Given the description of an element on the screen output the (x, y) to click on. 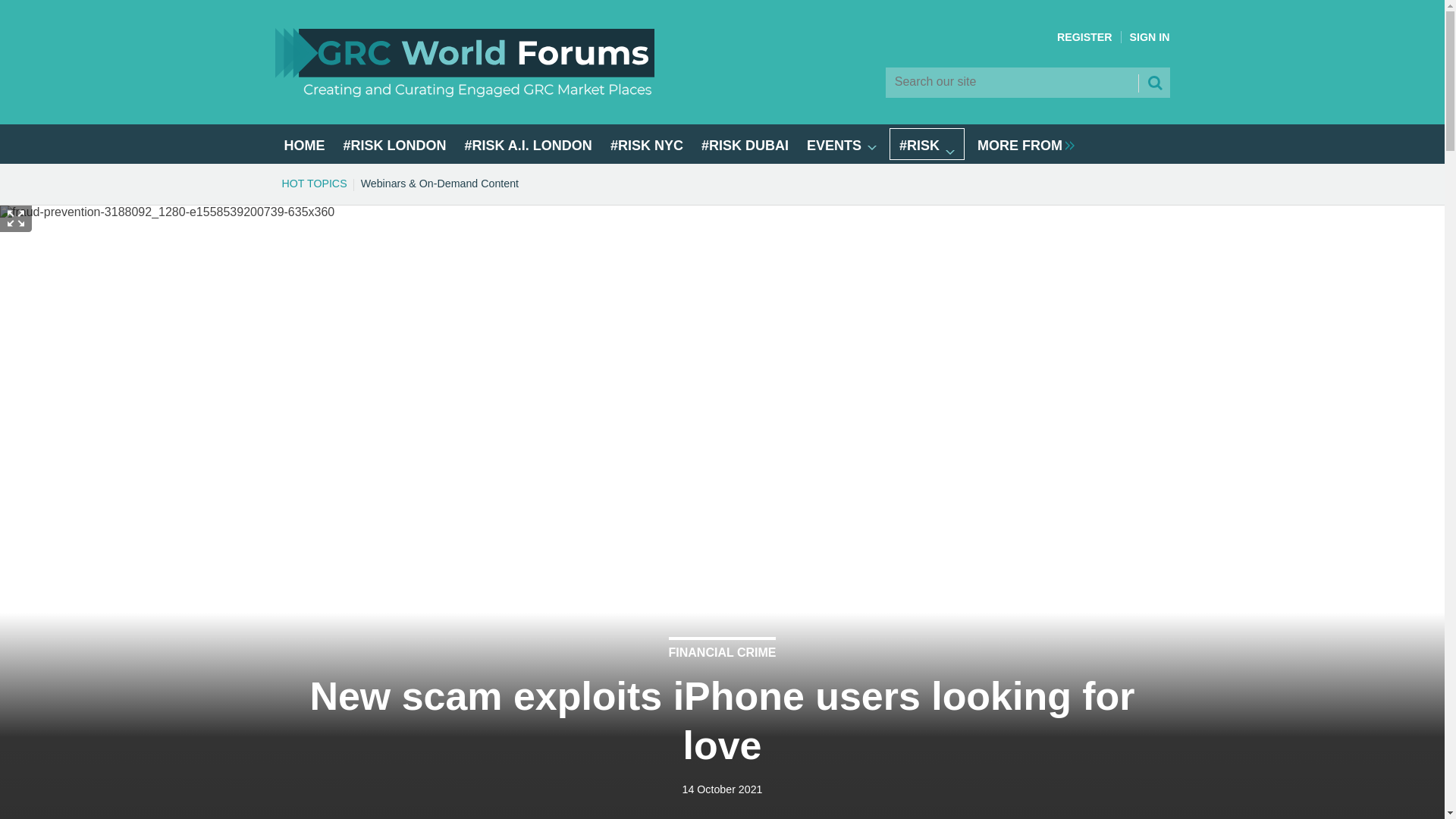
REGISTER (1084, 37)
Site name (464, 92)
SEARCH (1153, 82)
SIGN IN (1149, 37)
